Given the description of an element on the screen output the (x, y) to click on. 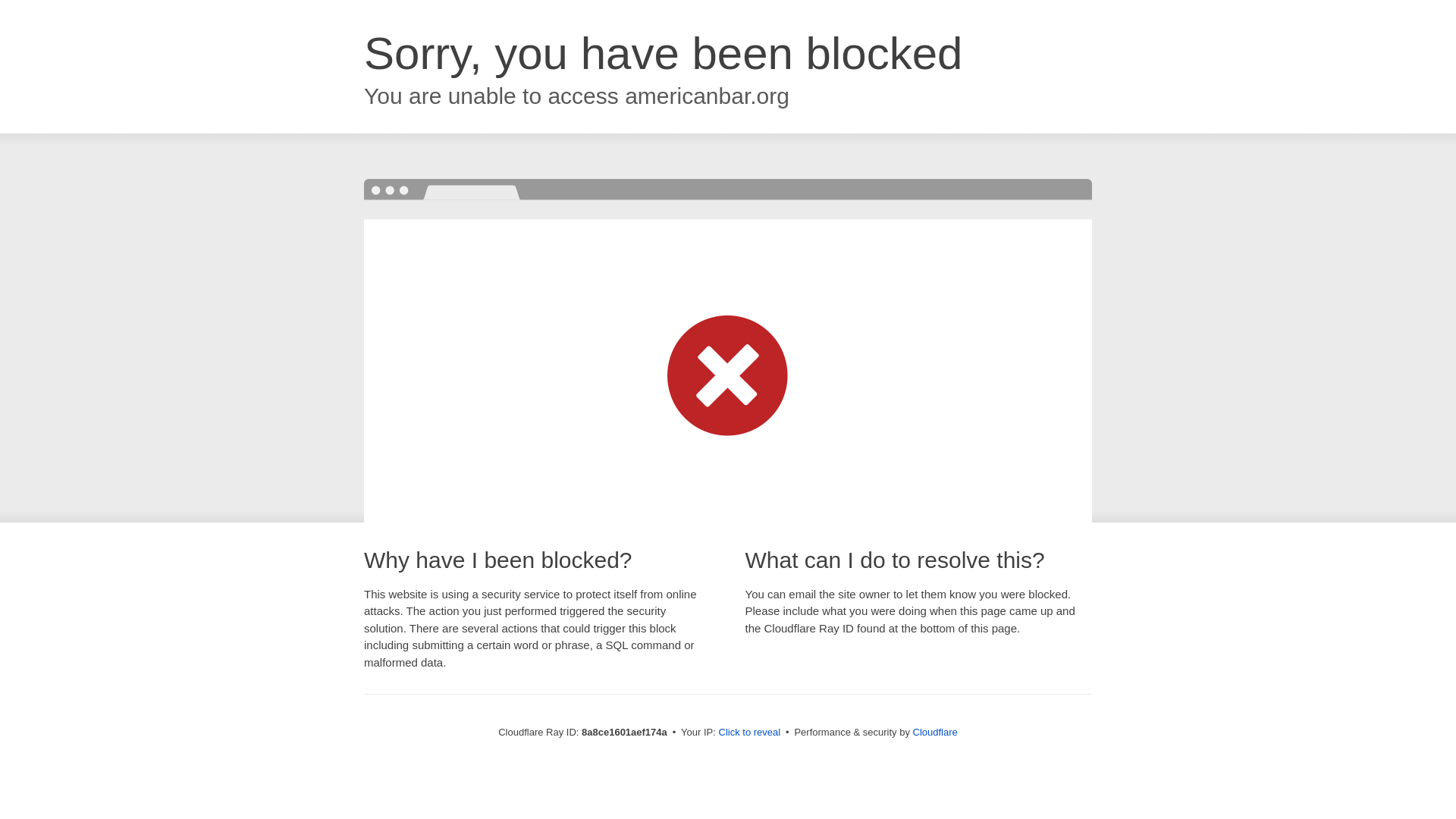
Cloudflare (935, 731)
Click to reveal (749, 732)
